Given the description of an element on the screen output the (x, y) to click on. 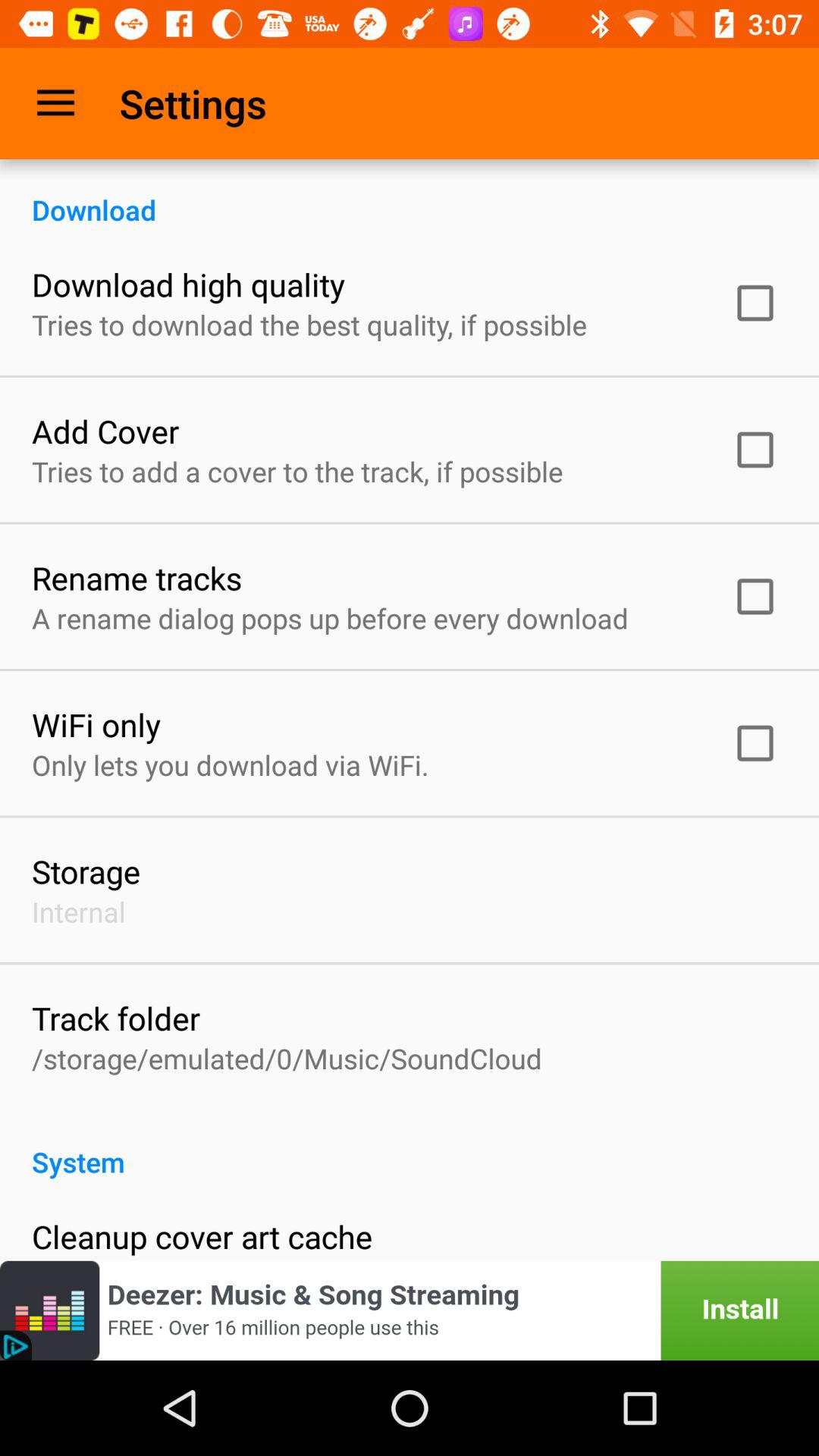
scroll until internal (78, 911)
